Given the description of an element on the screen output the (x, y) to click on. 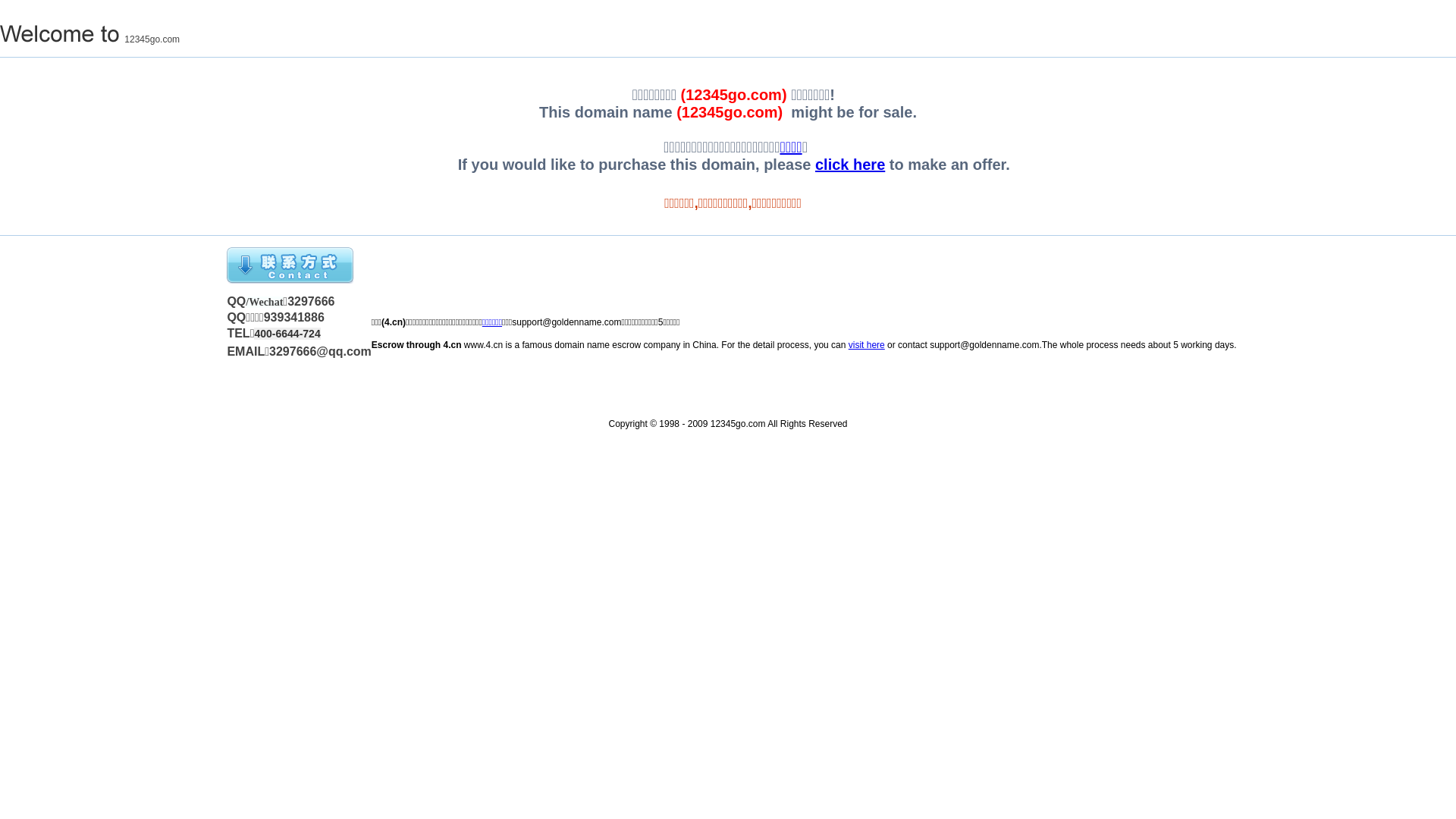
click here Element type: text (849, 164)
visit here Element type: text (866, 344)
